Given the description of an element on the screen output the (x, y) to click on. 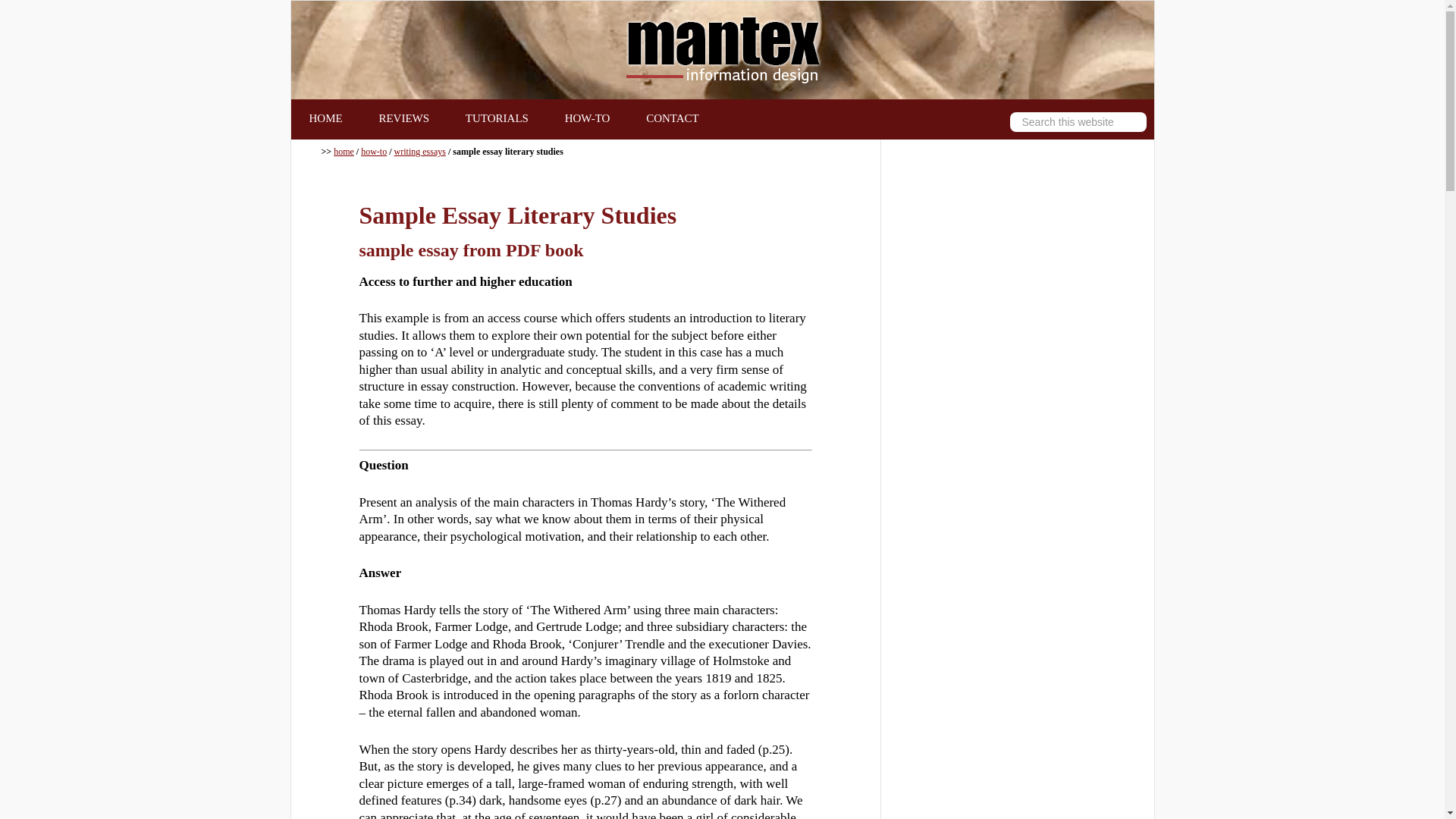
how-to (374, 151)
TUTORIALS (496, 118)
HOME (326, 118)
HOW-TO (587, 118)
writing essays (419, 151)
REVIEWS (402, 118)
home (343, 151)
CONTACT (672, 118)
